Given the description of an element on the screen output the (x, y) to click on. 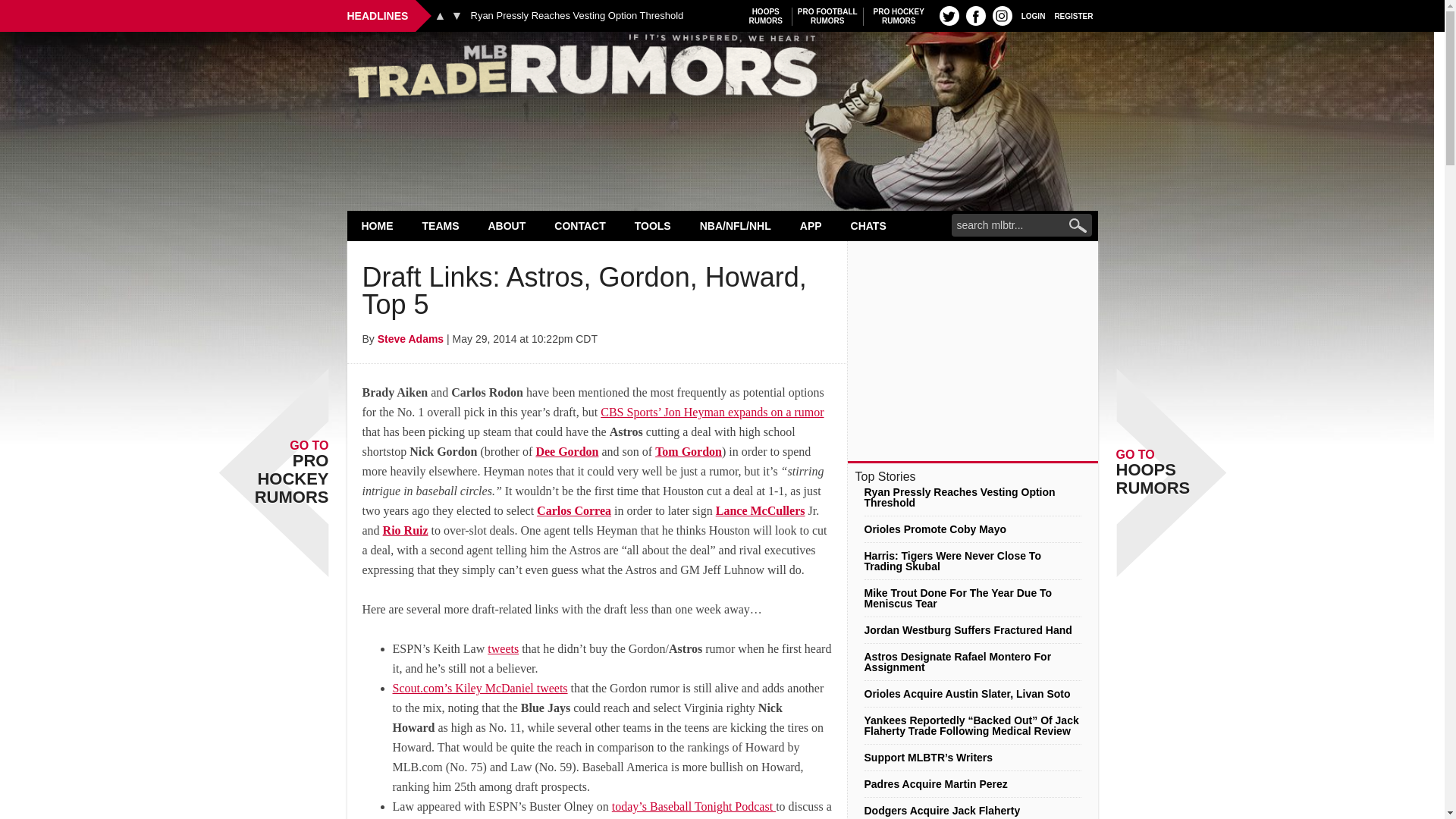
LOGIN (1032, 15)
MLB Trade Rumors (722, 69)
TEAMS (440, 225)
Next (456, 15)
Previous (439, 15)
Twitter profile (949, 15)
HOME (765, 16)
